Given the description of an element on the screen output the (x, y) to click on. 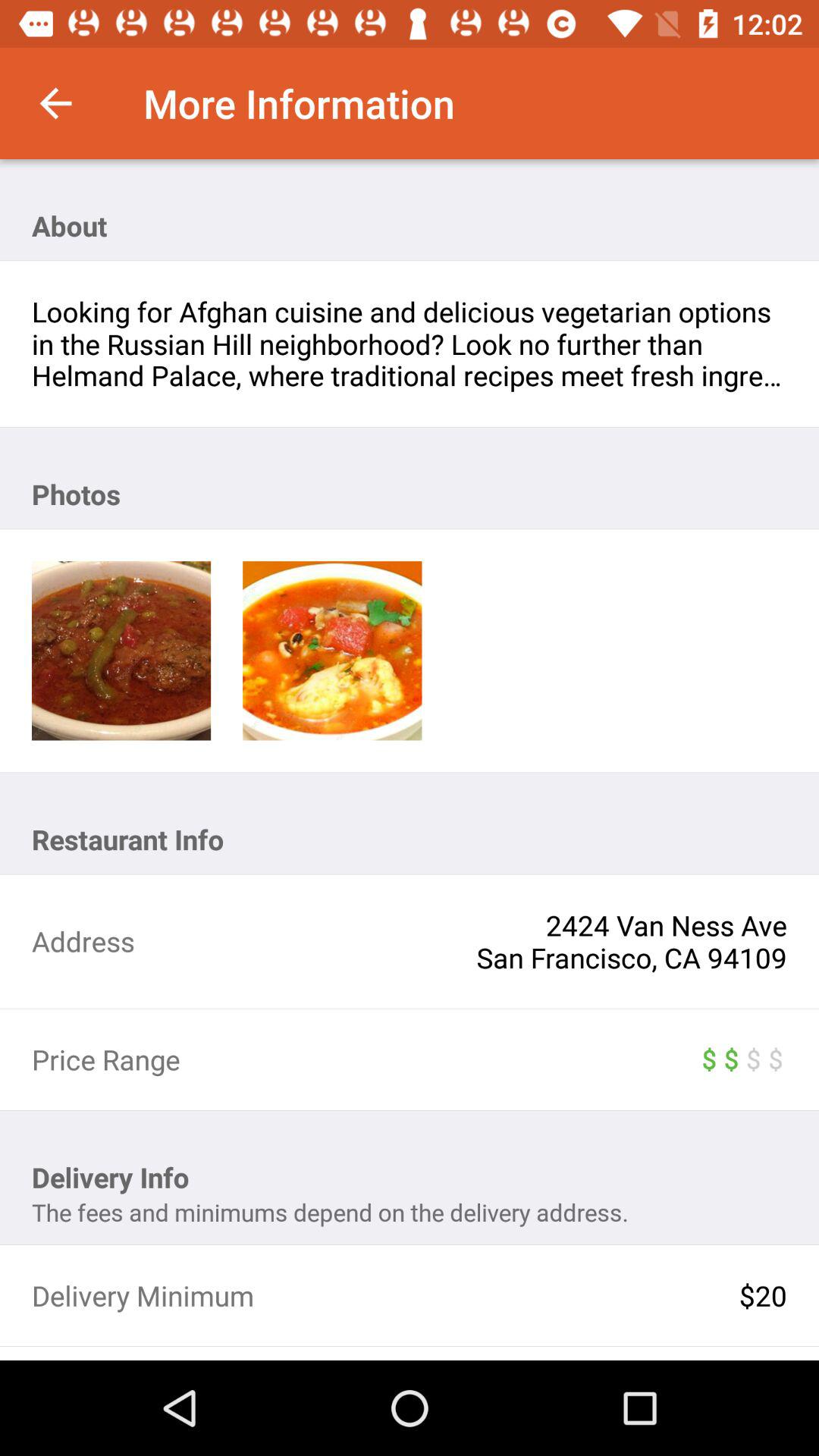
tap item at the top left corner (55, 103)
